Given the description of an element on the screen output the (x, y) to click on. 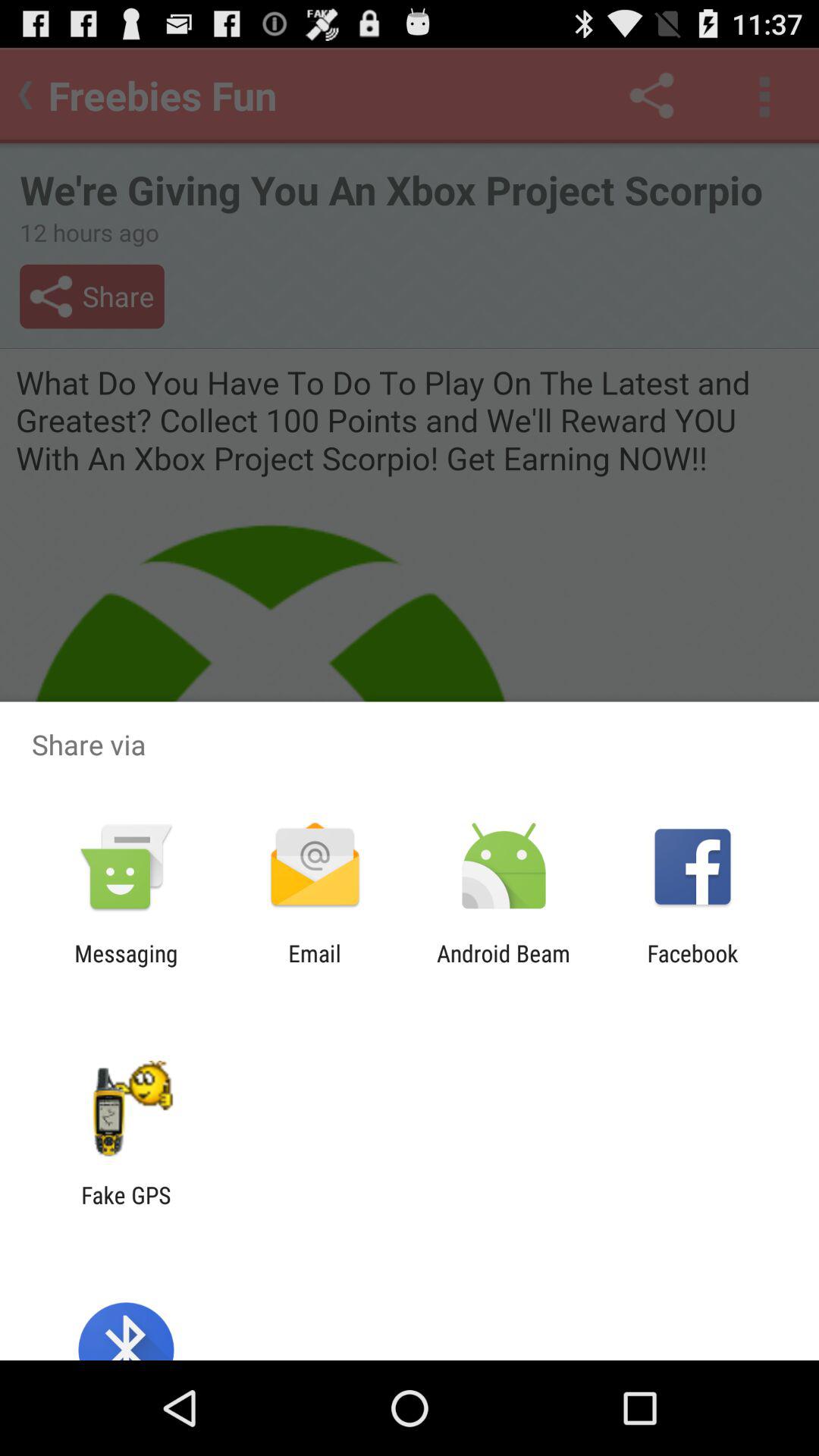
choose the app next to android beam app (692, 966)
